Given the description of an element on the screen output the (x, y) to click on. 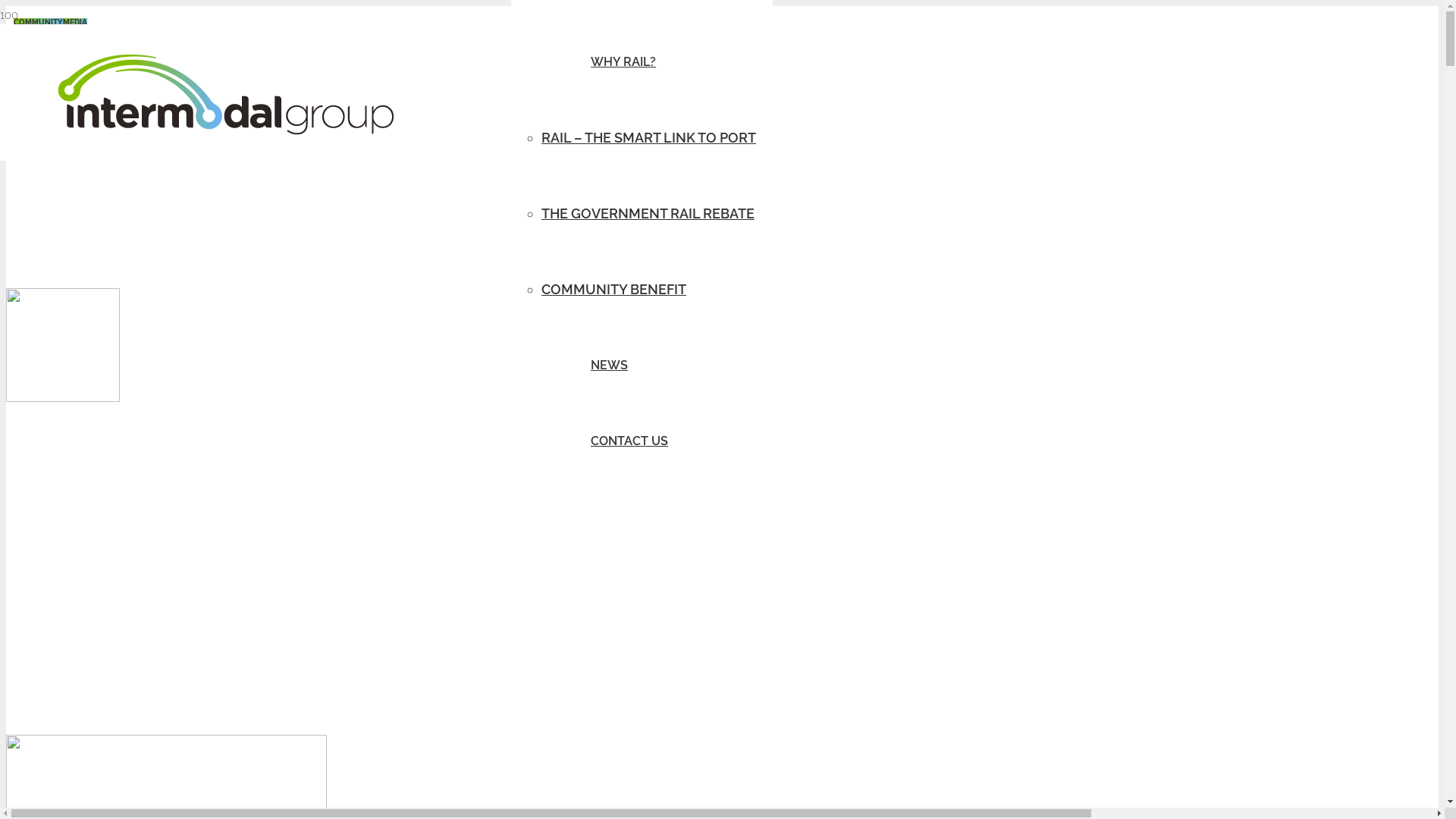
MEDIA Element type: text (74, 22)
UNCATEGORIZED Element type: text (45, 22)
COMMUNITY Element type: text (37, 22)
COMMUNITY BENEFIT Element type: text (613, 289)
MEDIA Element type: text (25, 22)
THE GOVERNMENT RAIL REBATE Element type: text (647, 213)
CONTACT US Element type: text (629, 440)
NEWS Element type: text (609, 364)
WHY RAIL? Element type: text (623, 61)
